Given the description of an element on the screen output the (x, y) to click on. 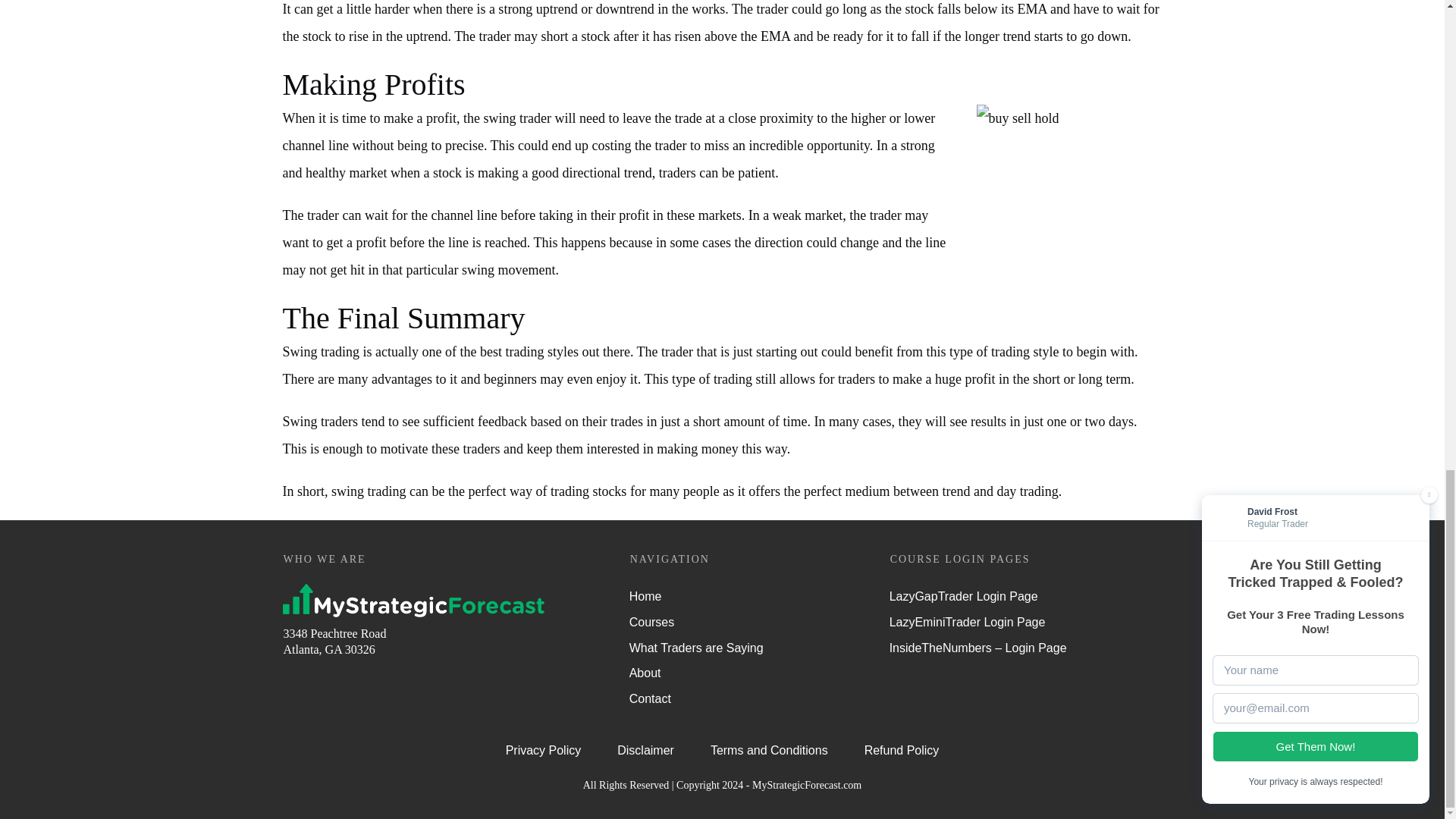
Home (645, 596)
Disclaimer (645, 750)
What Traders are Saying (695, 648)
Privacy Policy (542, 750)
LazyEminiTrader Login Page (967, 622)
trading stocks (588, 491)
Contact (649, 699)
Courses (651, 622)
About (644, 673)
Refund Policy (901, 750)
Terms and Conditions (769, 750)
LazyGapTrader Login Page (963, 596)
